Given the description of an element on the screen output the (x, y) to click on. 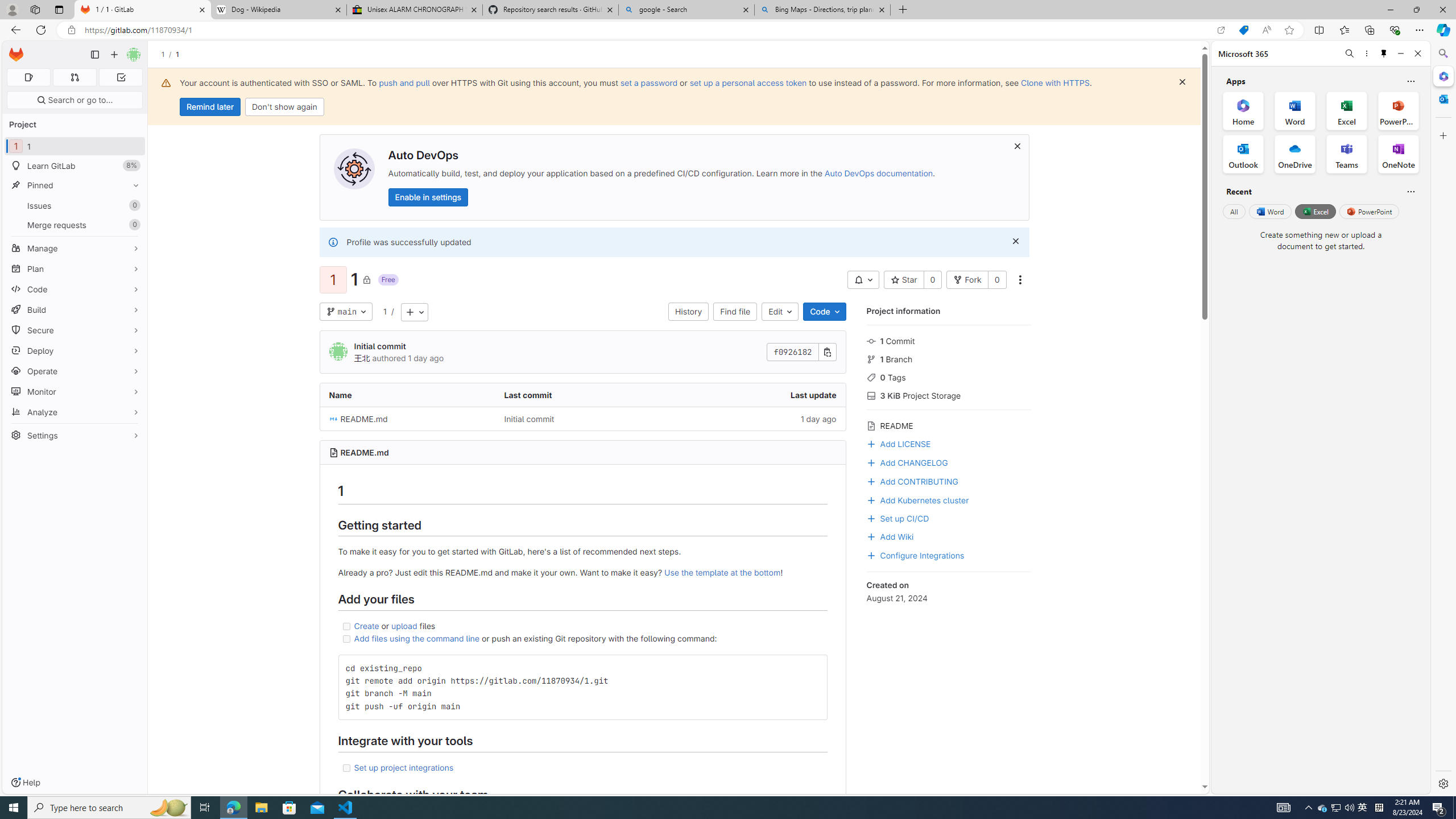
set up a personal access token (747, 82)
Last commit (583, 395)
Deploy (74, 350)
Analyze (74, 411)
Skip to main content (13, 49)
Initial commit (583, 418)
Plan (74, 268)
11 (74, 145)
Clone with HTTPS (1054, 82)
Operate (74, 370)
To-Do list 0 (120, 76)
View site information (70, 29)
Create (366, 625)
Class: s16 icon (366, 279)
